Given the description of an element on the screen output the (x, y) to click on. 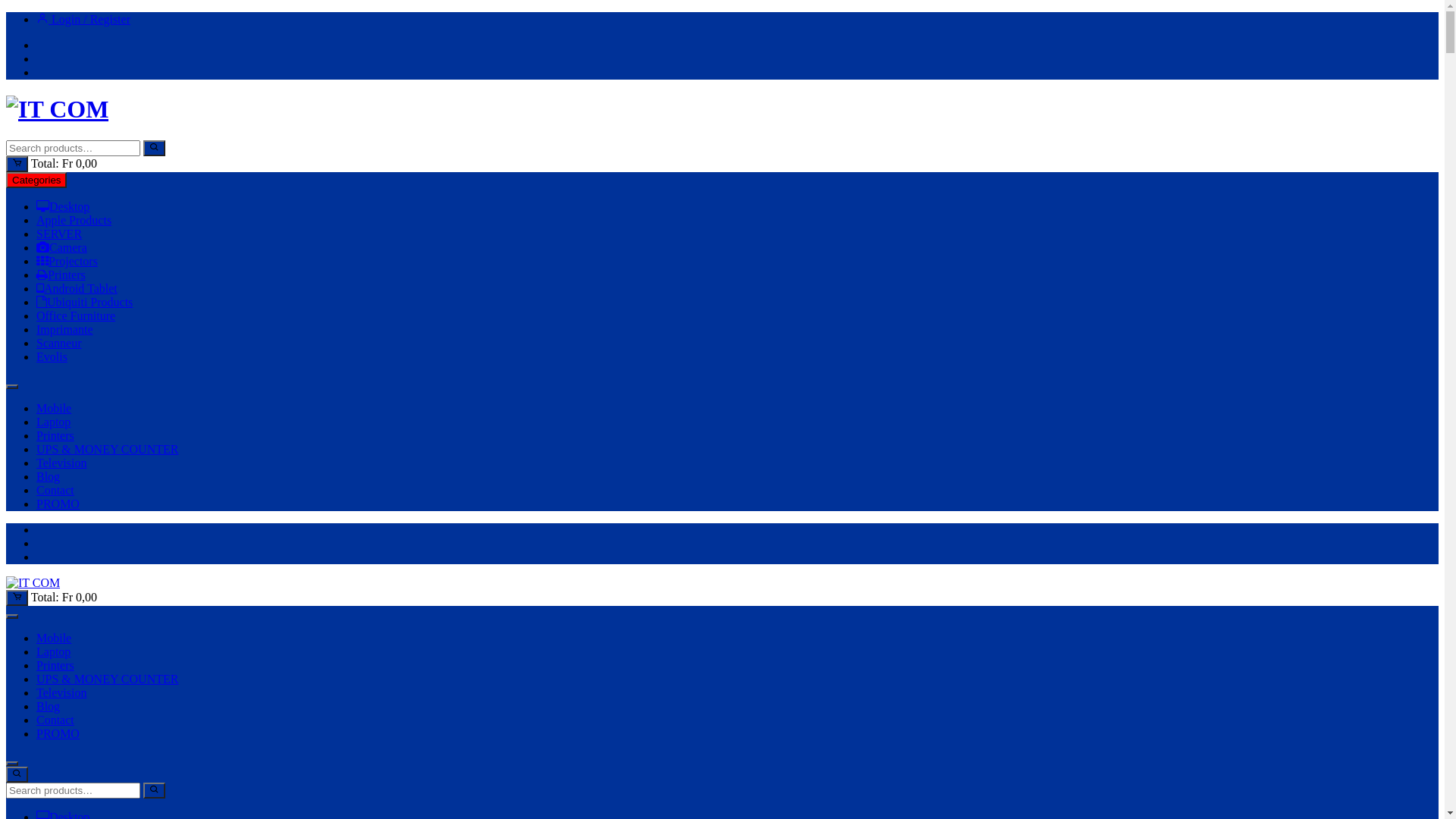
Television Element type: text (61, 462)
Skip to content Element type: text (5, 11)
Categories Element type: text (36, 180)
SERVER Element type: text (58, 233)
PROMO Element type: text (57, 733)
Apple Products Element type: text (73, 219)
UPS & MONEY COUNTER Element type: text (107, 678)
Desktop Element type: text (62, 206)
Blog Element type: text (47, 476)
UPS & MONEY COUNTER Element type: text (107, 448)
Printers Element type: text (60, 274)
Mobile Element type: text (53, 637)
Contact Element type: text (55, 719)
Android Tablet Element type: text (76, 288)
Imprimante Element type: text (64, 329)
Login / Register Element type: text (83, 18)
Laptop Element type: text (53, 651)
Printers Element type: text (55, 435)
Scanneur Element type: text (58, 342)
Blog Element type: text (47, 705)
Laptop Element type: text (53, 421)
Office Furniture Element type: text (75, 315)
Mobile Element type: text (53, 407)
Projectors Element type: text (66, 260)
Evolis Element type: text (51, 356)
Ubiquiti Products Element type: text (84, 301)
Camera Element type: text (61, 247)
PROMO Element type: text (57, 503)
Television Element type: text (61, 692)
Printers Element type: text (55, 664)
Contact Element type: text (55, 489)
